Given the description of an element on the screen output the (x, y) to click on. 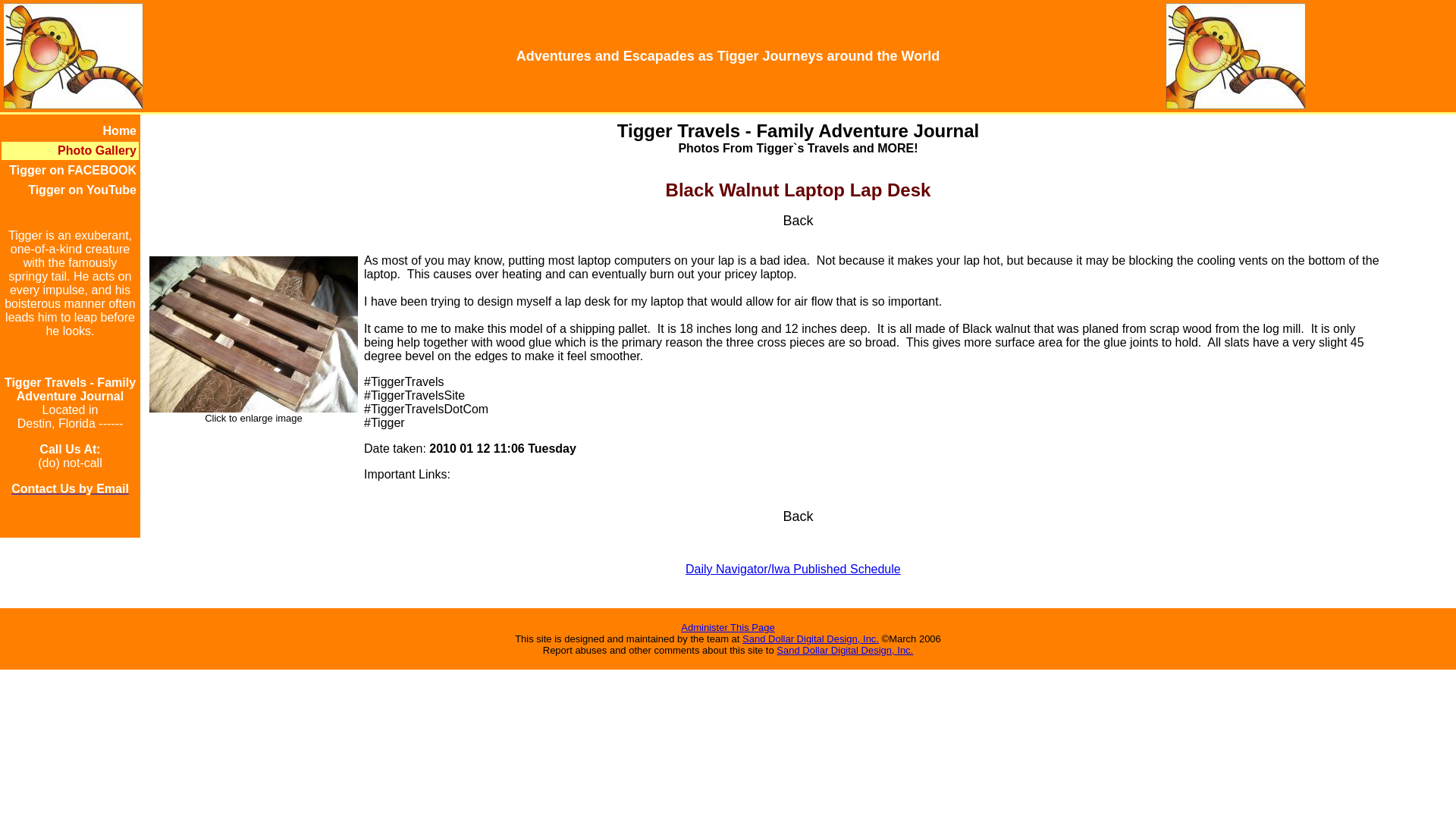
Back (797, 516)
Home (119, 130)
Tigger on YouTube (81, 189)
Administer This Page (727, 627)
Click to enlarge image (253, 413)
Sand Dollar Digital Design, Inc. (810, 638)
Photo Gallery (97, 150)
Sand Dollar Digital Design, Inc. (844, 650)
Contact Us by Email (70, 488)
Tigger on FACEBOOK (72, 169)
